Given the description of an element on the screen output the (x, y) to click on. 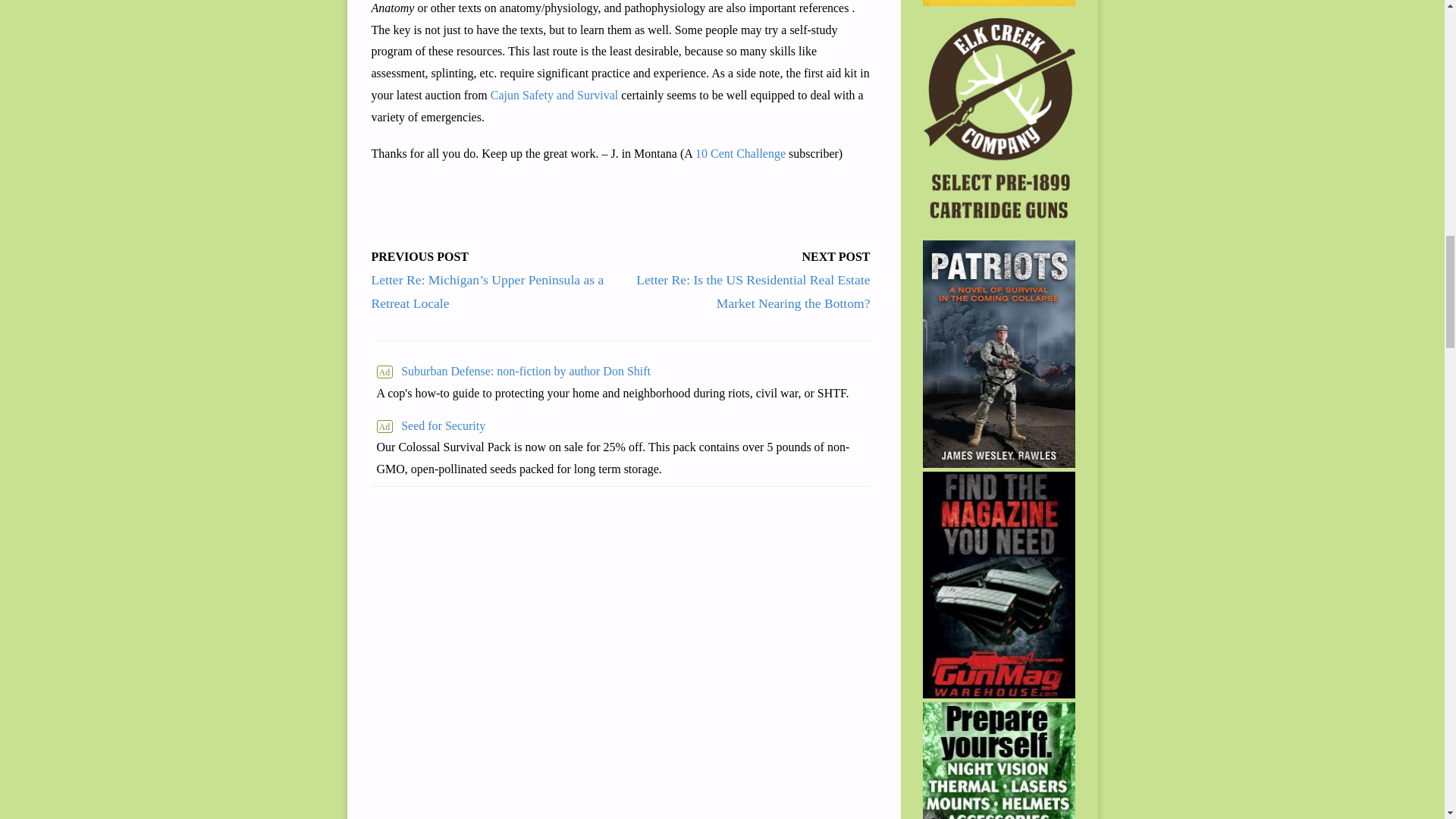
Seed for Security (619, 426)
Brownells (999, 2)
How to protect and defend a neighborhood. (611, 372)
